Given the description of an element on the screen output the (x, y) to click on. 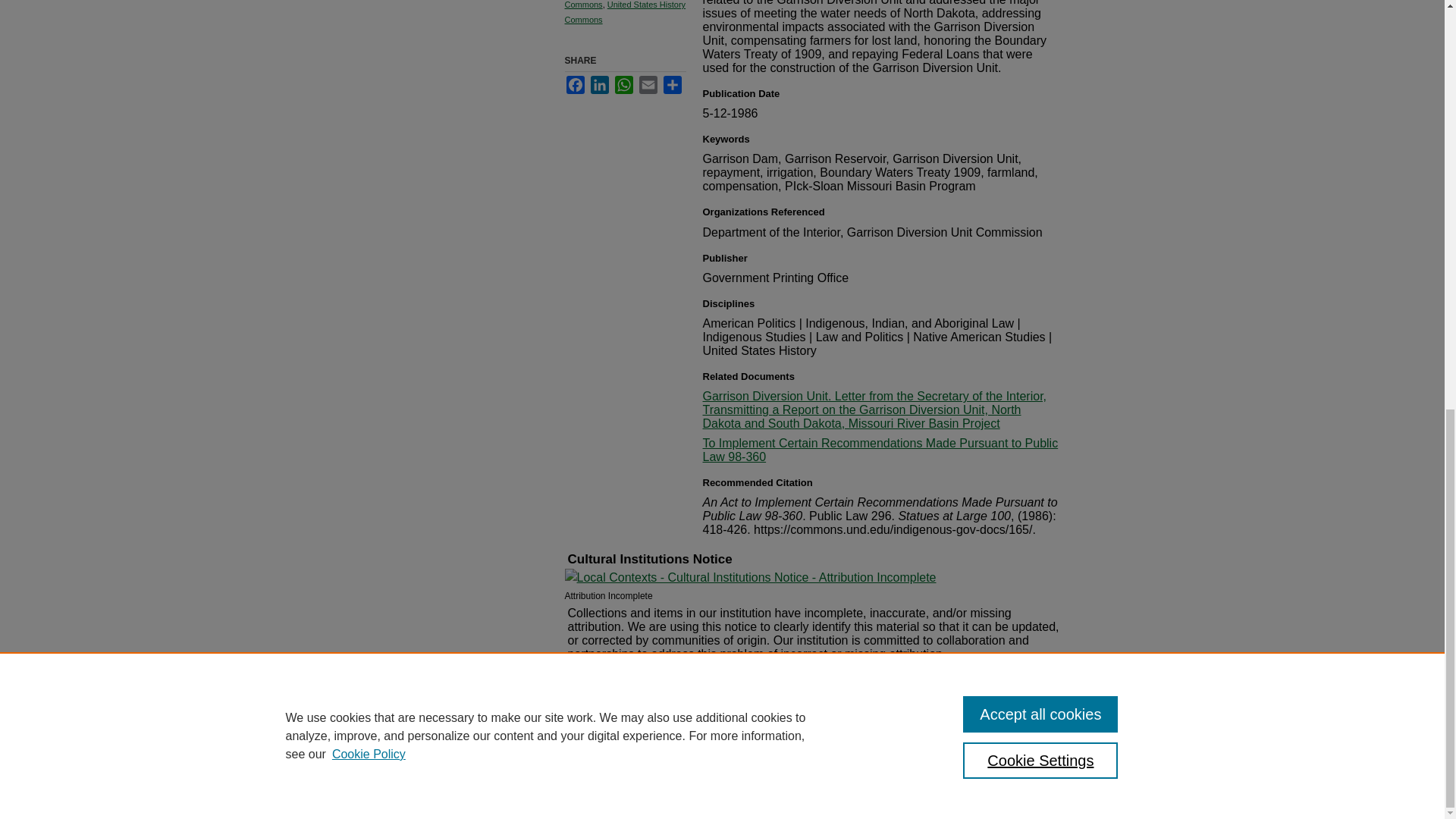
LinkedIn (599, 85)
Native American Studies Commons (609, 4)
Native American Studies Commons (609, 4)
United States History Commons (624, 12)
Facebook (574, 85)
